Given the description of an element on the screen output the (x, y) to click on. 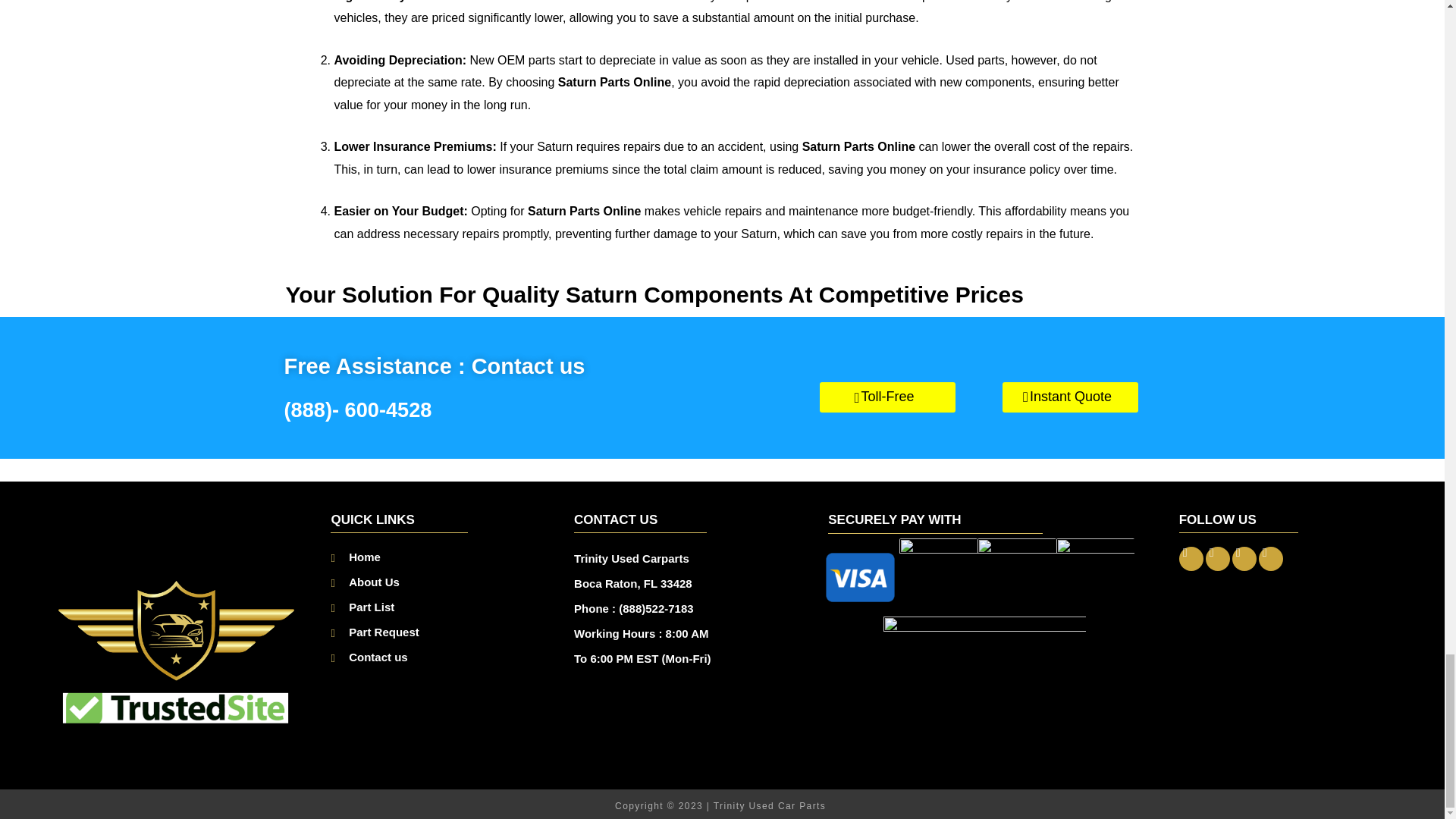
Contact us (444, 657)
Instant Quote (1070, 397)
Toll-Free (887, 397)
Home (444, 557)
About Us (444, 581)
Part List (444, 607)
Part Request (444, 631)
